Given the description of an element on the screen output the (x, y) to click on. 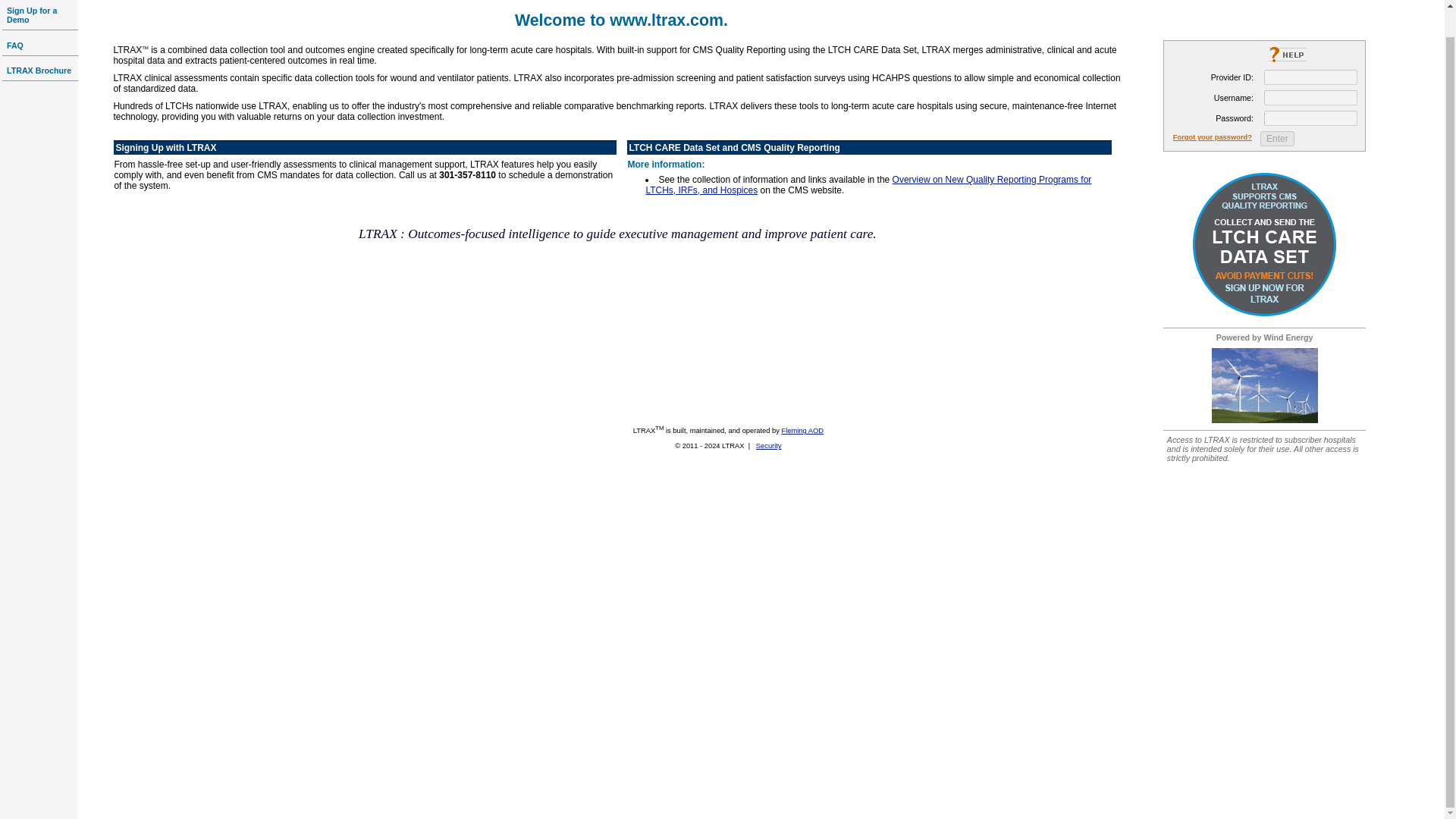
Enter (1277, 138)
FAQ (15, 44)
LTRAX Brochure (39, 70)
Fleming AOD (801, 430)
Sign Up for a Demo (31, 14)
Forgot your password? (1212, 136)
Security (768, 445)
